Given the description of an element on the screen output the (x, y) to click on. 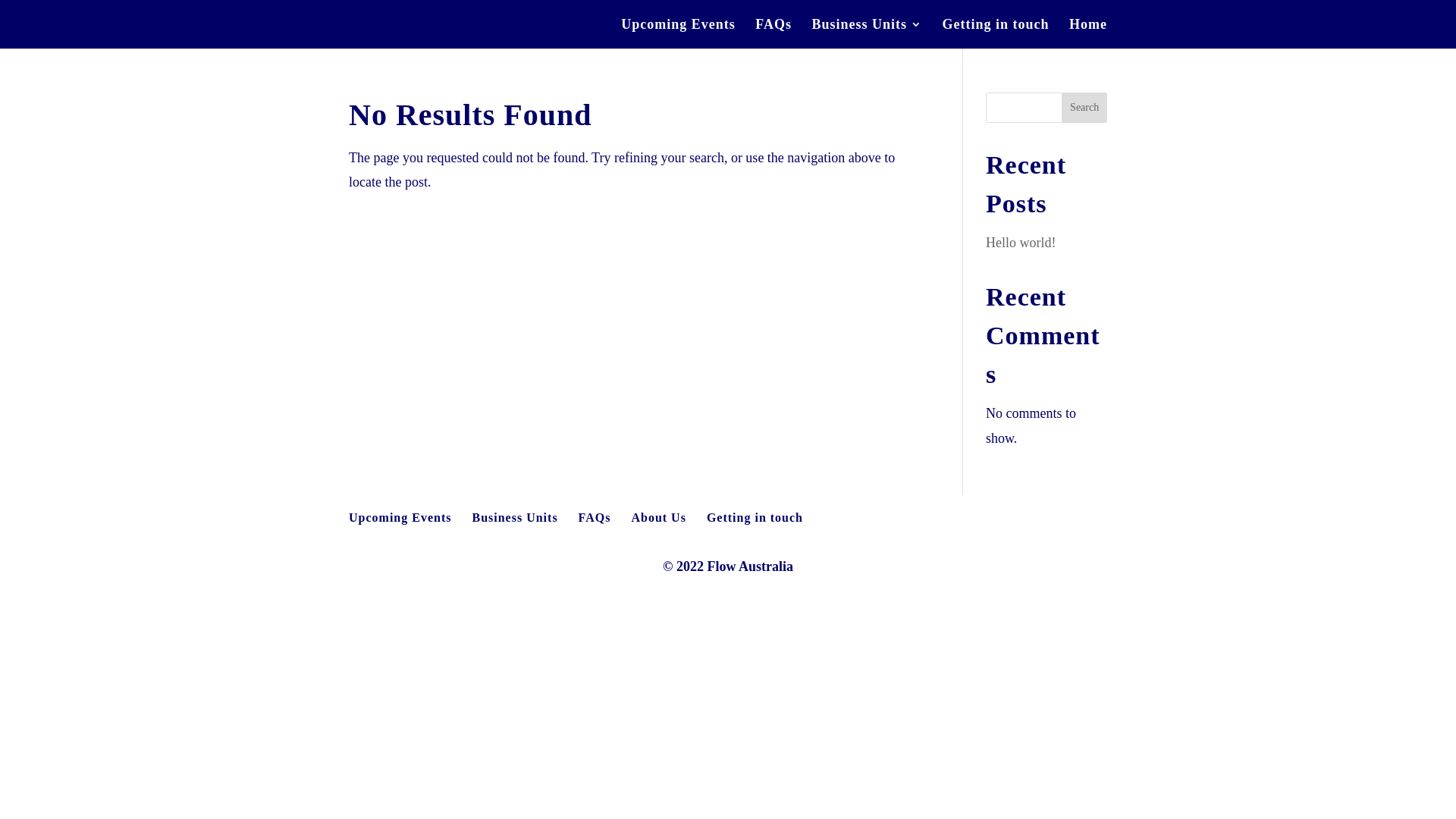
Upcoming Events Element type: text (678, 33)
Search Element type: text (1084, 107)
Business Units Element type: text (514, 517)
Business Units Element type: text (866, 33)
Upcoming Events Element type: text (399, 517)
About Us Element type: text (657, 517)
Getting in touch Element type: text (754, 517)
Getting in touch Element type: text (994, 33)
Hello world! Element type: text (1020, 242)
FAQs Element type: text (773, 33)
Home Element type: text (1088, 33)
FAQs Element type: text (594, 517)
